Given the description of an element on the screen output the (x, y) to click on. 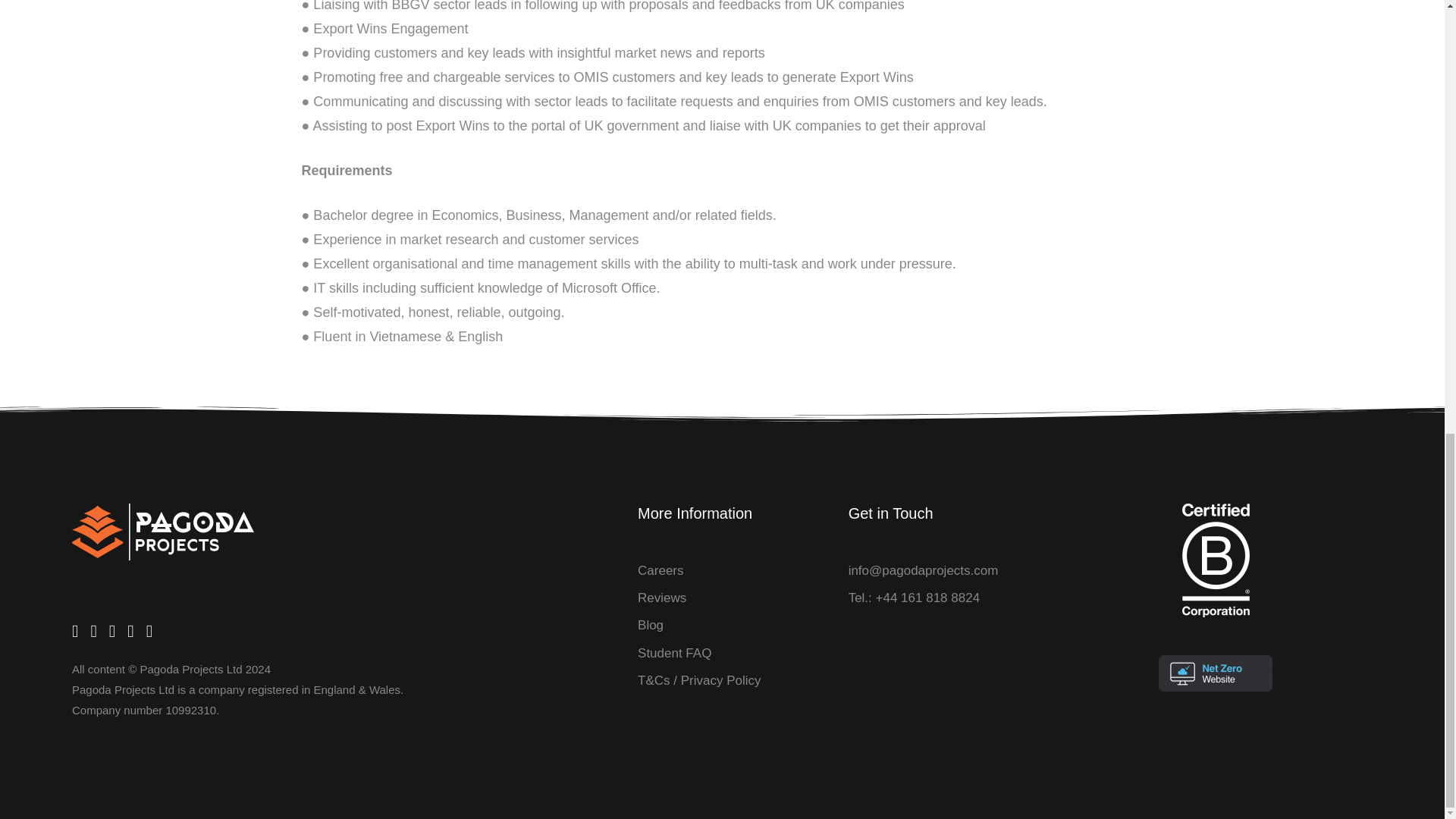
Reviews (661, 598)
Student FAQ (674, 653)
Careers (659, 570)
Blog (650, 625)
